Given the description of an element on the screen output the (x, y) to click on. 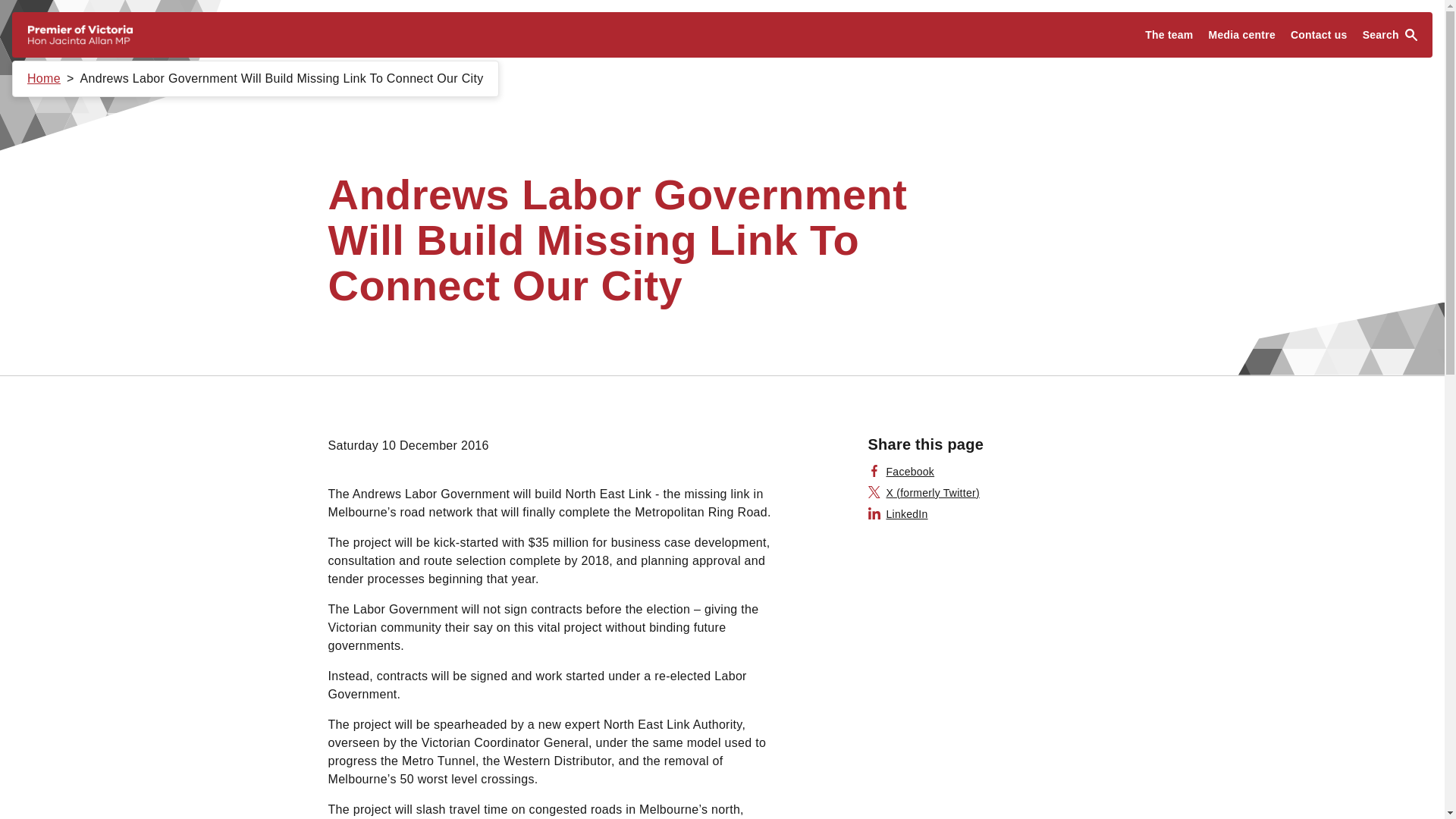
LinkedIn (897, 513)
The team (1168, 34)
Home (44, 78)
Contact us (1318, 34)
Media centre (1241, 34)
Facebook (900, 471)
